Given the description of an element on the screen output the (x, y) to click on. 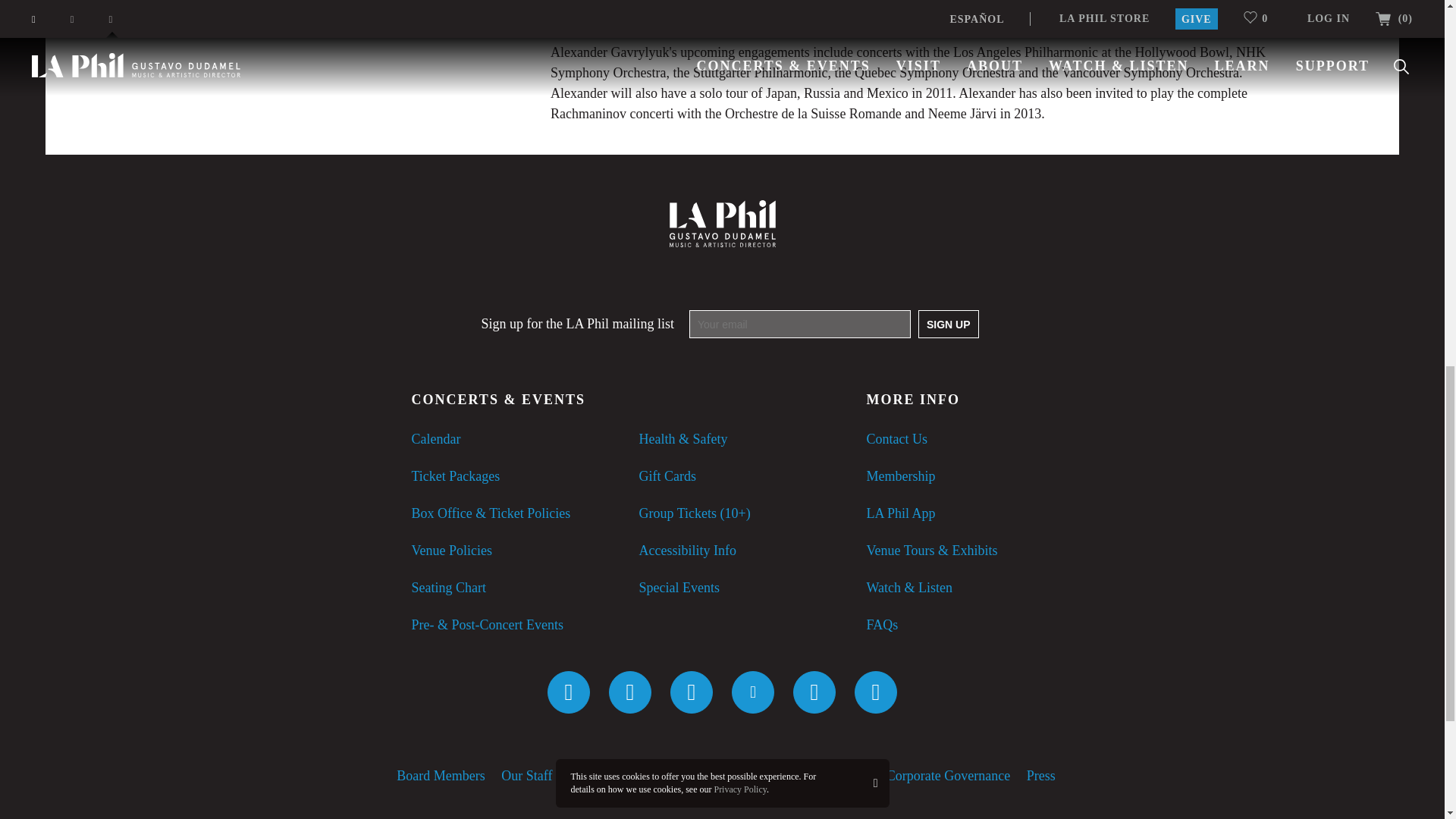
Sign Up (948, 324)
